Given the description of an element on the screen output the (x, y) to click on. 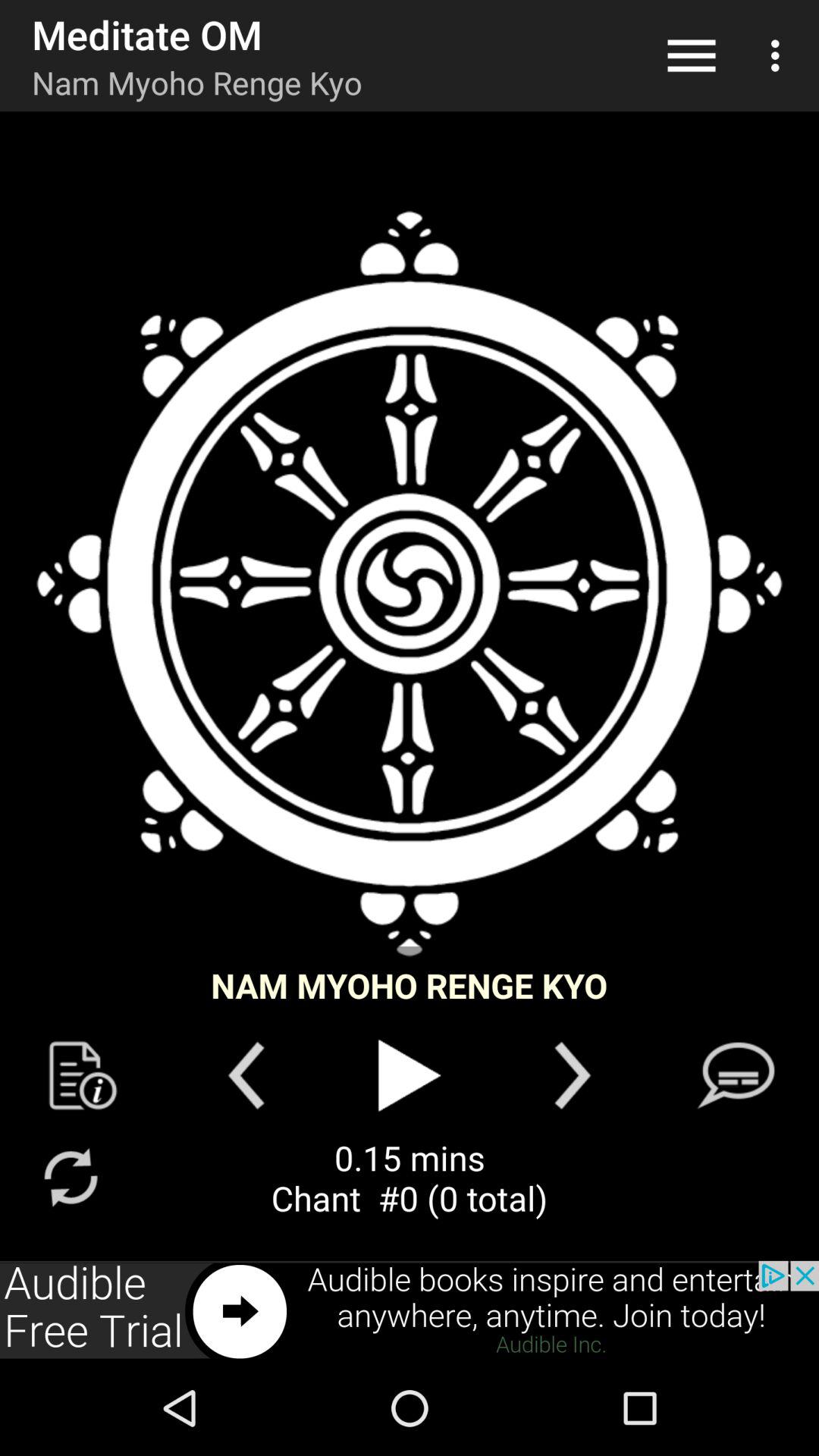
next song play (572, 1075)
